Given the description of an element on the screen output the (x, y) to click on. 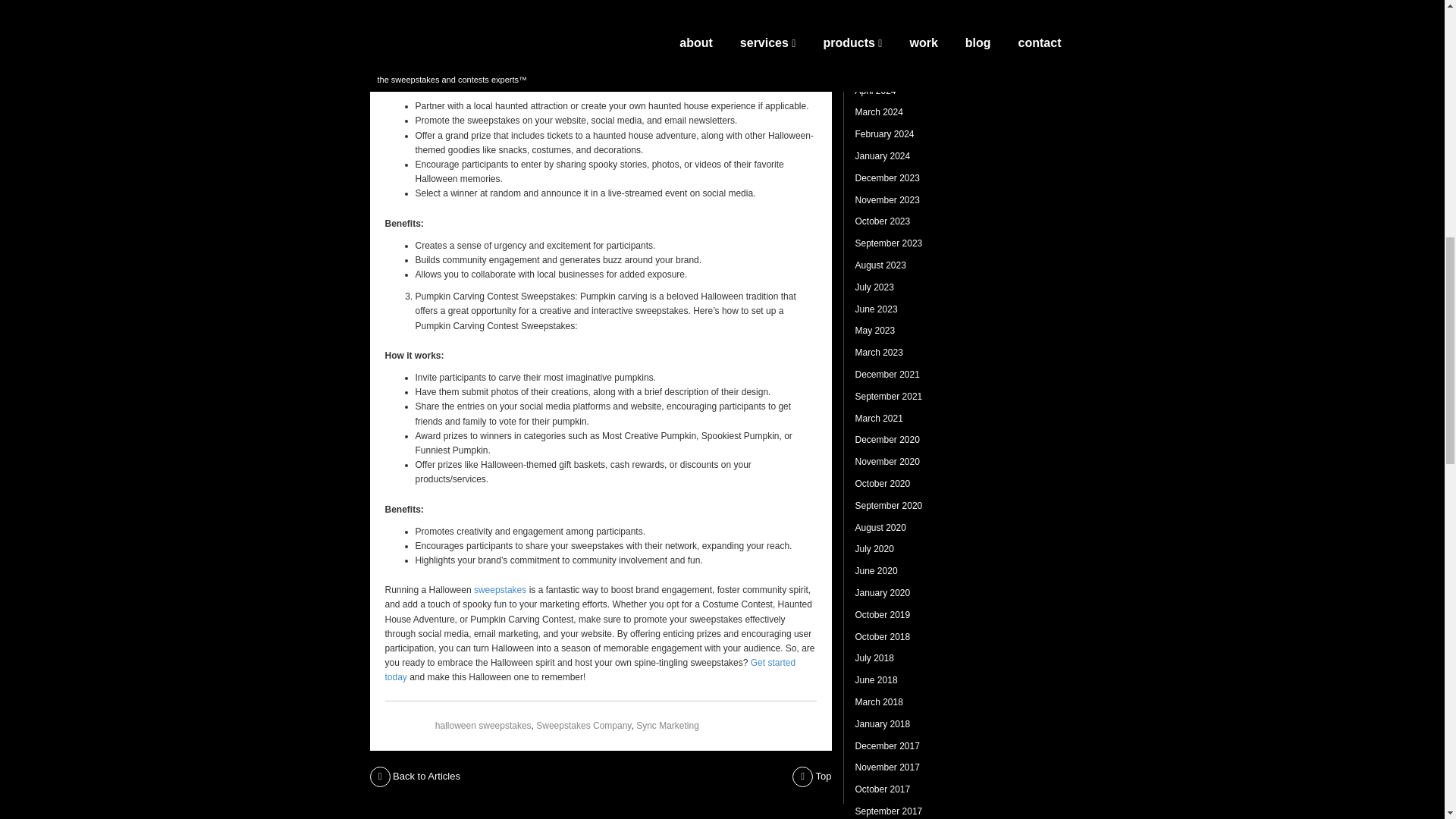
View all posts in Sweepstakes Company (582, 725)
View all posts in Sync Marketing (667, 725)
View all posts in halloween sweepstakes (483, 725)
